Given the description of an element on the screen output the (x, y) to click on. 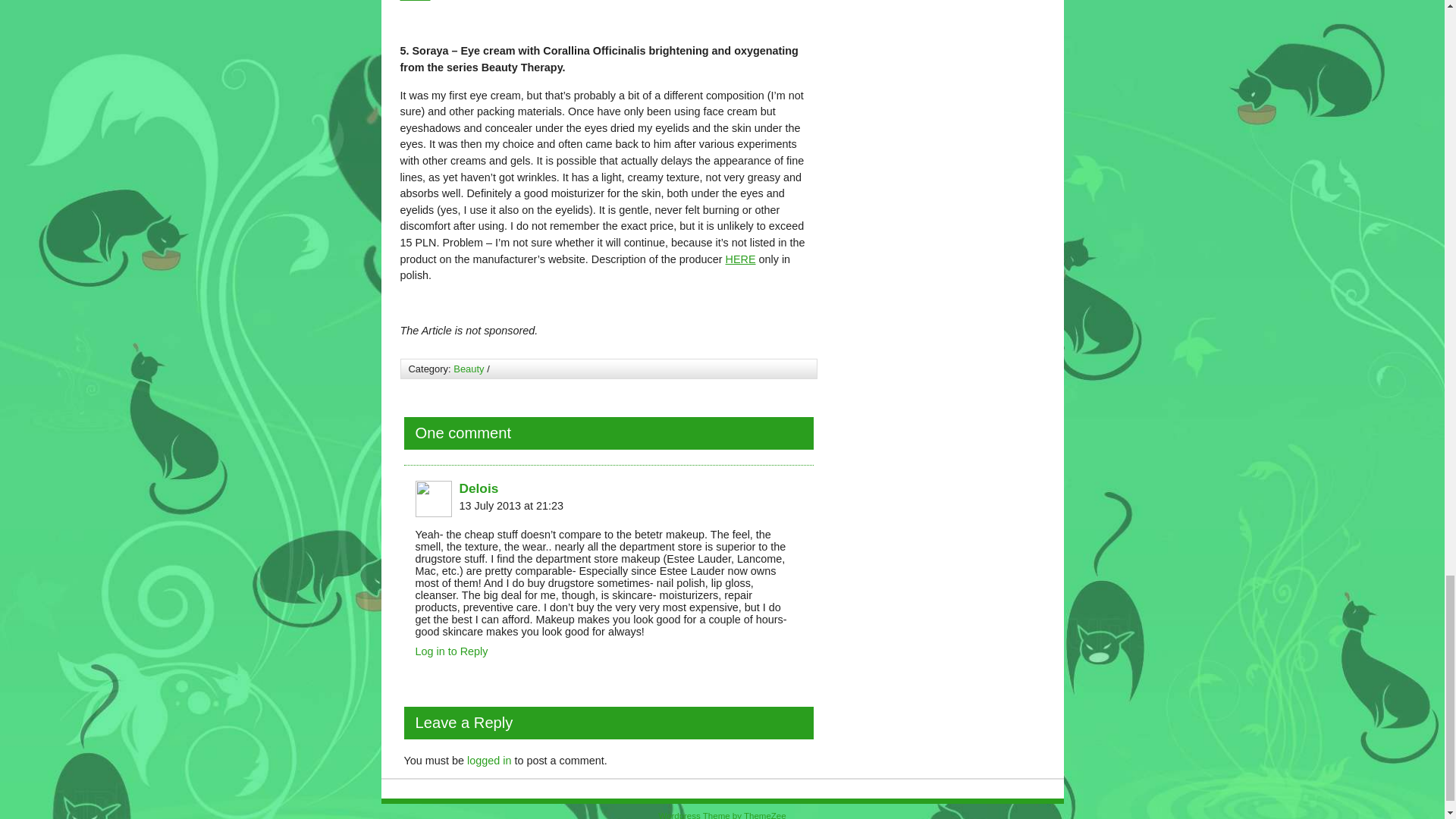
Log in to Reply (450, 651)
HERE (415, 0)
HERE (740, 259)
logged in (489, 760)
Delois (479, 488)
Beauty (467, 368)
13 July 2013 at 21:23 (512, 505)
